Given the description of an element on the screen output the (x, y) to click on. 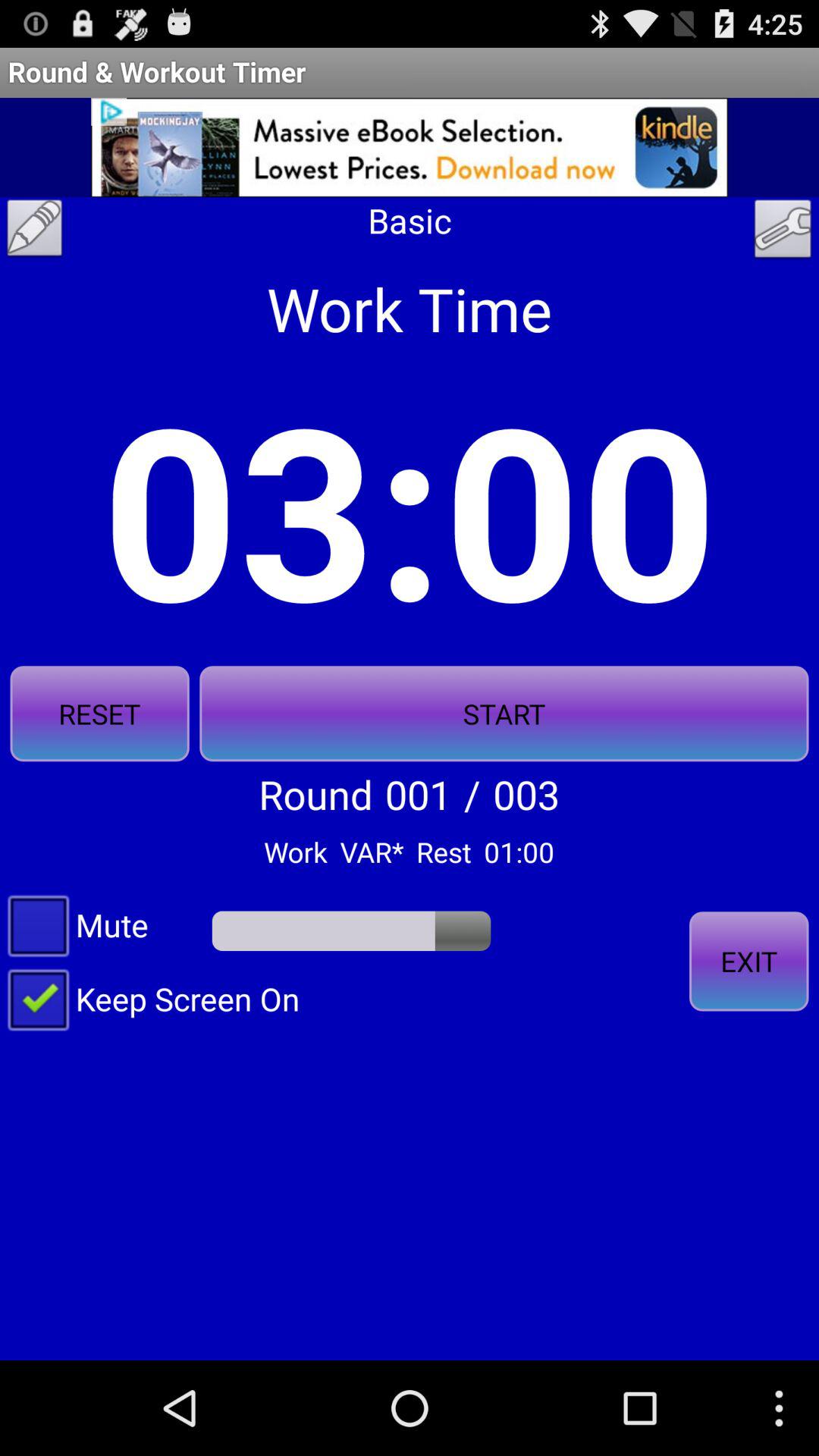
jump until the keep screen on (149, 998)
